Given the description of an element on the screen output the (x, y) to click on. 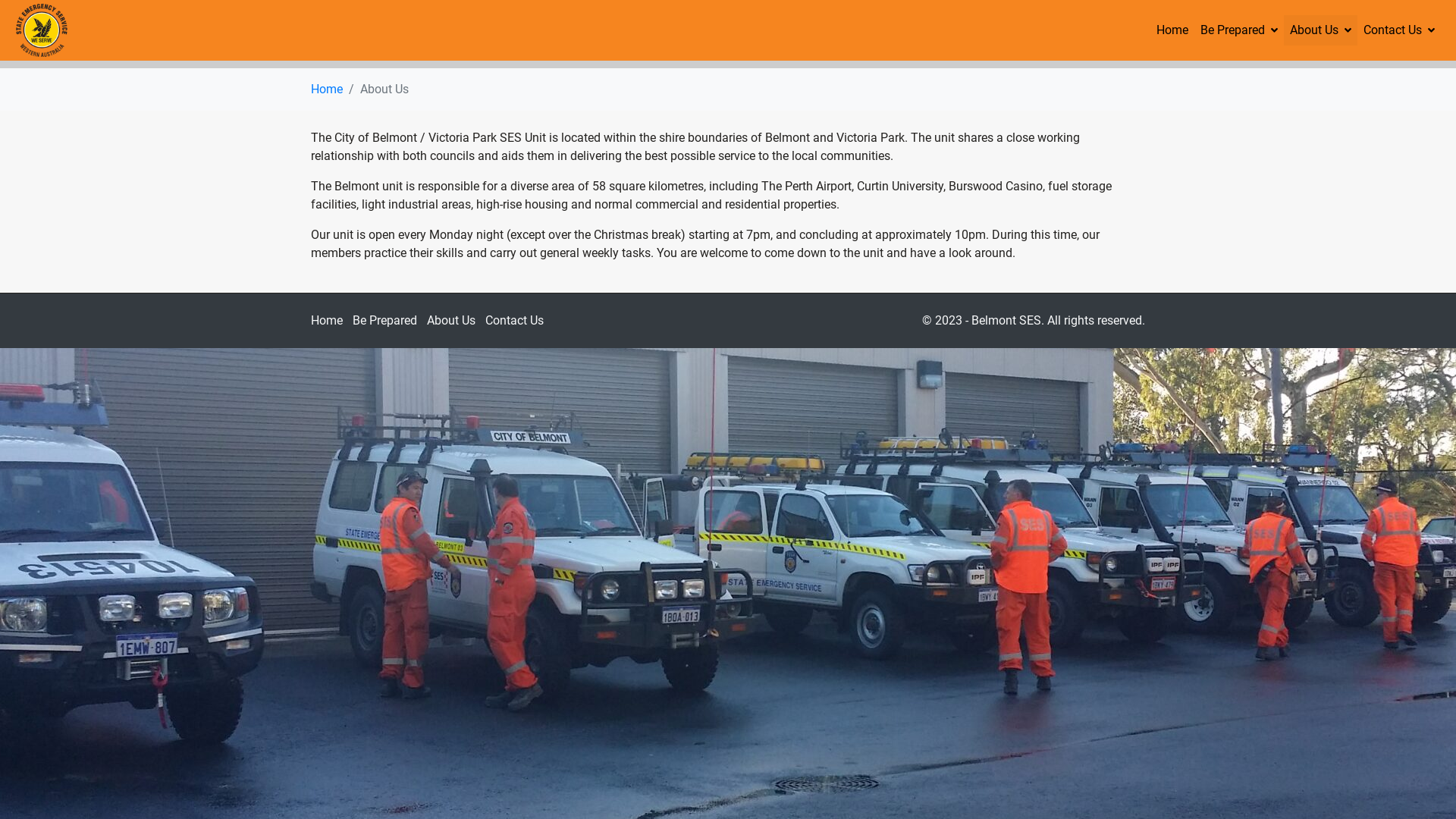
Home Element type: text (326, 88)
Be Prepared Element type: text (384, 320)
Home Element type: text (1172, 30)
Be Prepared Element type: text (1238, 30)
Home Element type: text (326, 320)
Contact Us Element type: text (514, 320)
About Us Element type: text (450, 320)
About Us Element type: text (1320, 30)
Contact Us Element type: text (1398, 30)
